Given the description of an element on the screen output the (x, y) to click on. 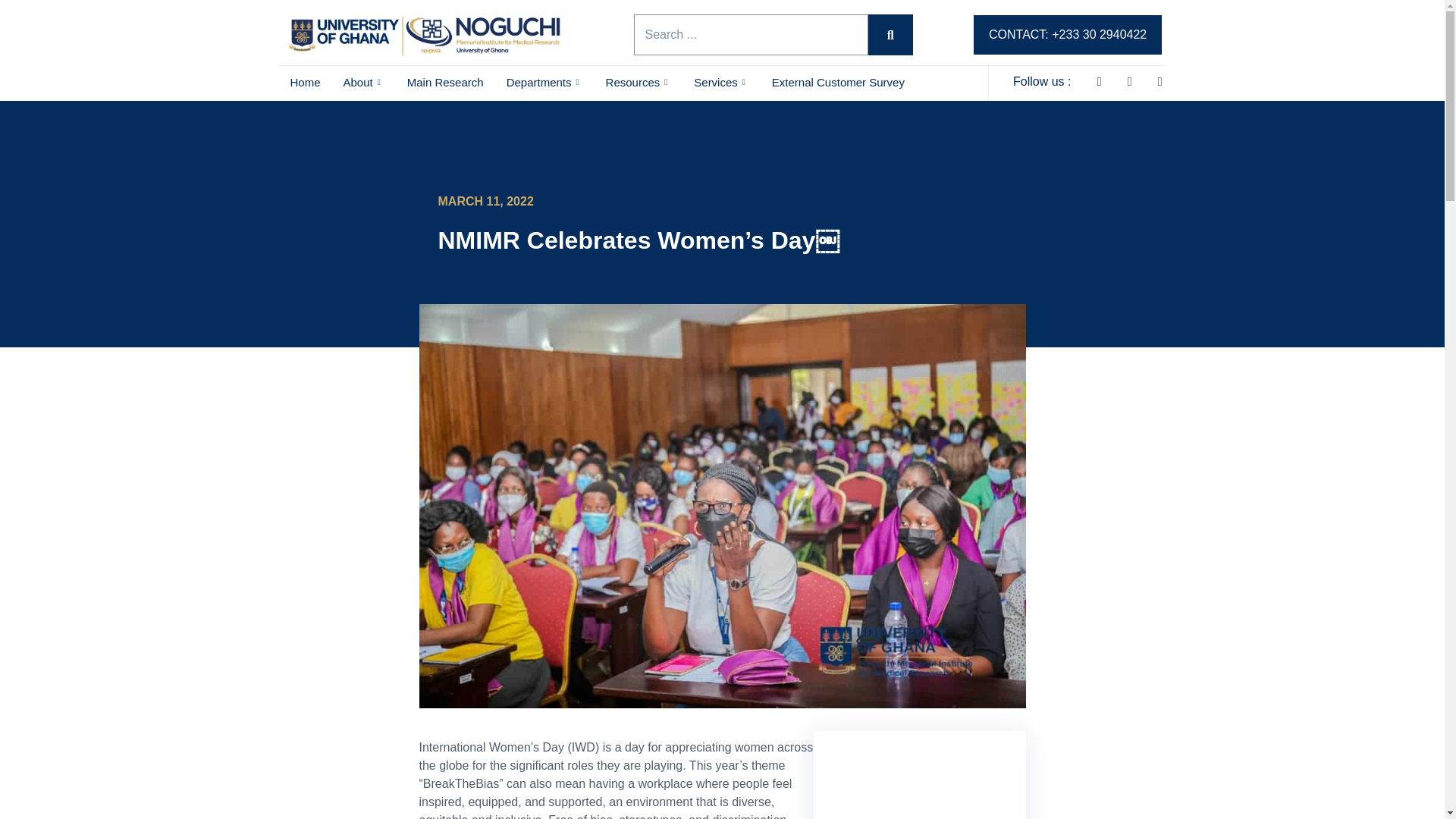
Main Research (445, 81)
Departments (544, 81)
External Customer Survey (837, 81)
About (363, 81)
MARCH 11, 2022 (486, 201)
Home (305, 81)
Resources (638, 81)
Services (721, 81)
